Given the description of an element on the screen output the (x, y) to click on. 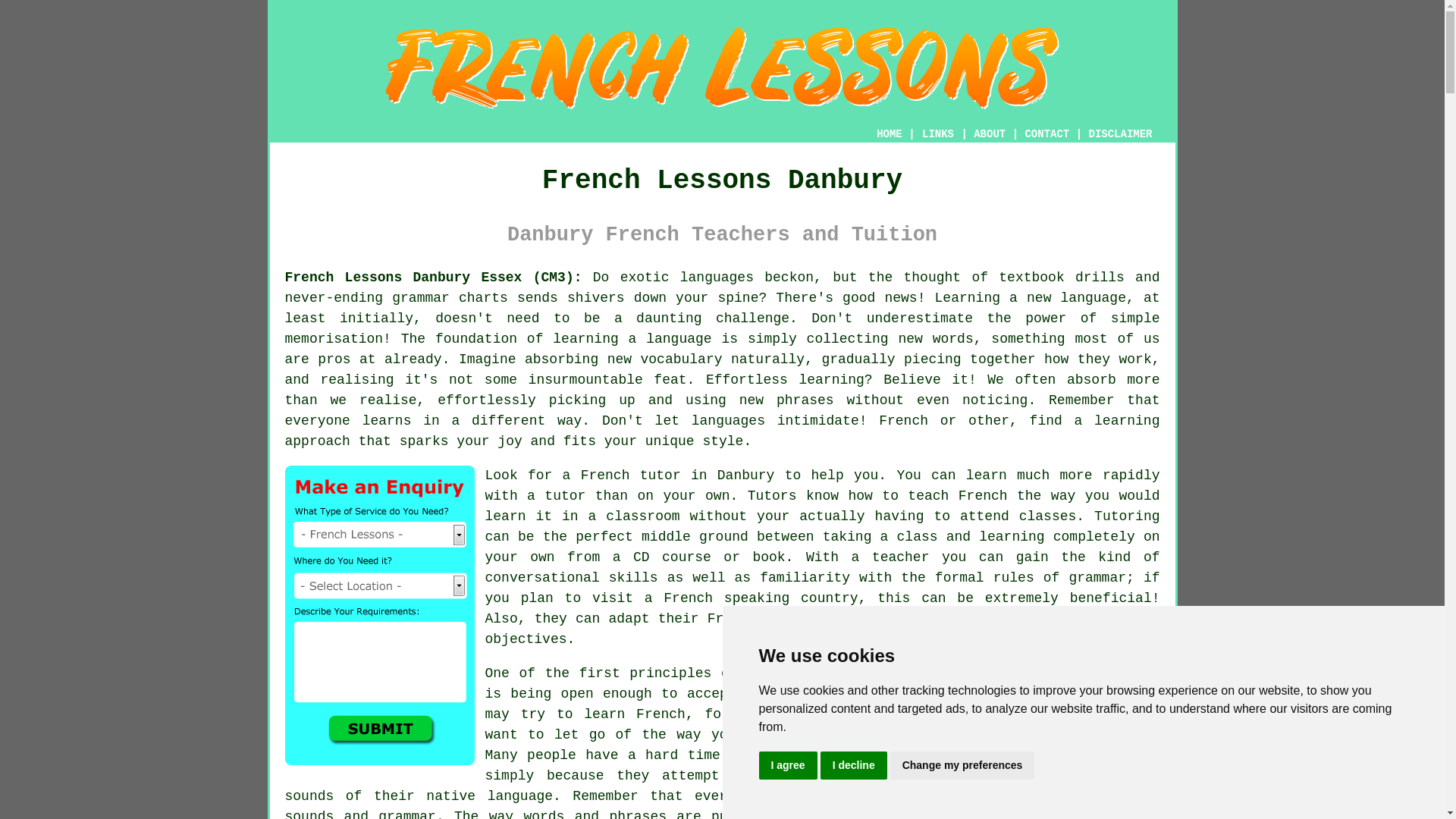
LINKS (938, 133)
tutor (564, 495)
I decline (853, 765)
Change my preferences (962, 765)
I agree (787, 765)
language (888, 672)
HOME (889, 133)
French (903, 420)
French Lessons Danbury (721, 68)
languages (716, 277)
